Given the description of an element on the screen output the (x, y) to click on. 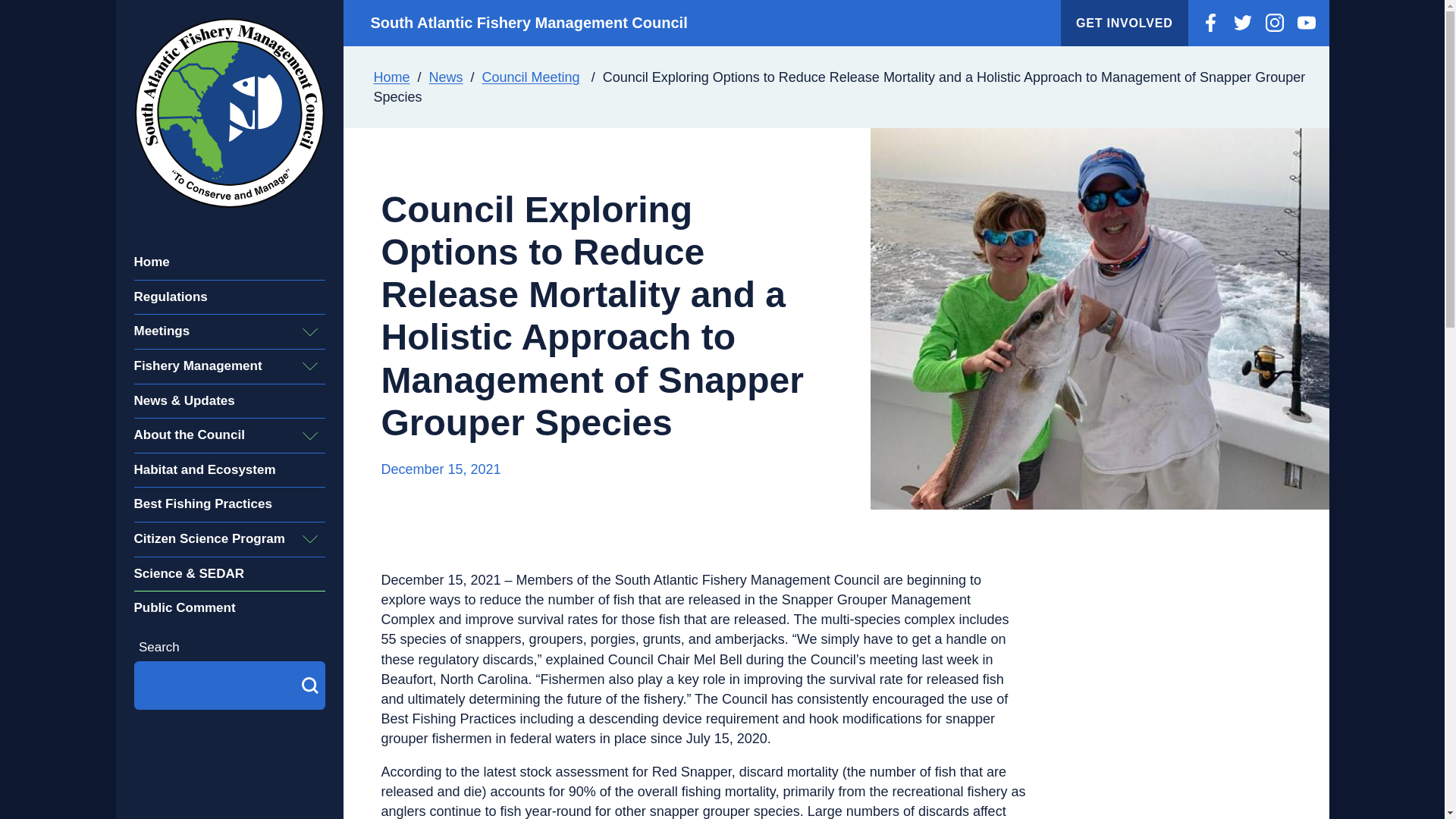
Facebook (1210, 22)
Meetings (213, 331)
Fishery Management (213, 366)
Twitter (1241, 22)
Best Fishing Practices (201, 504)
GET INVOLVED (1124, 22)
YouTube (1305, 22)
About the Council (213, 435)
Instagram (1273, 22)
Home (150, 262)
Regulations (169, 297)
Habitat and Ecosystem (204, 470)
